Given the description of an element on the screen output the (x, y) to click on. 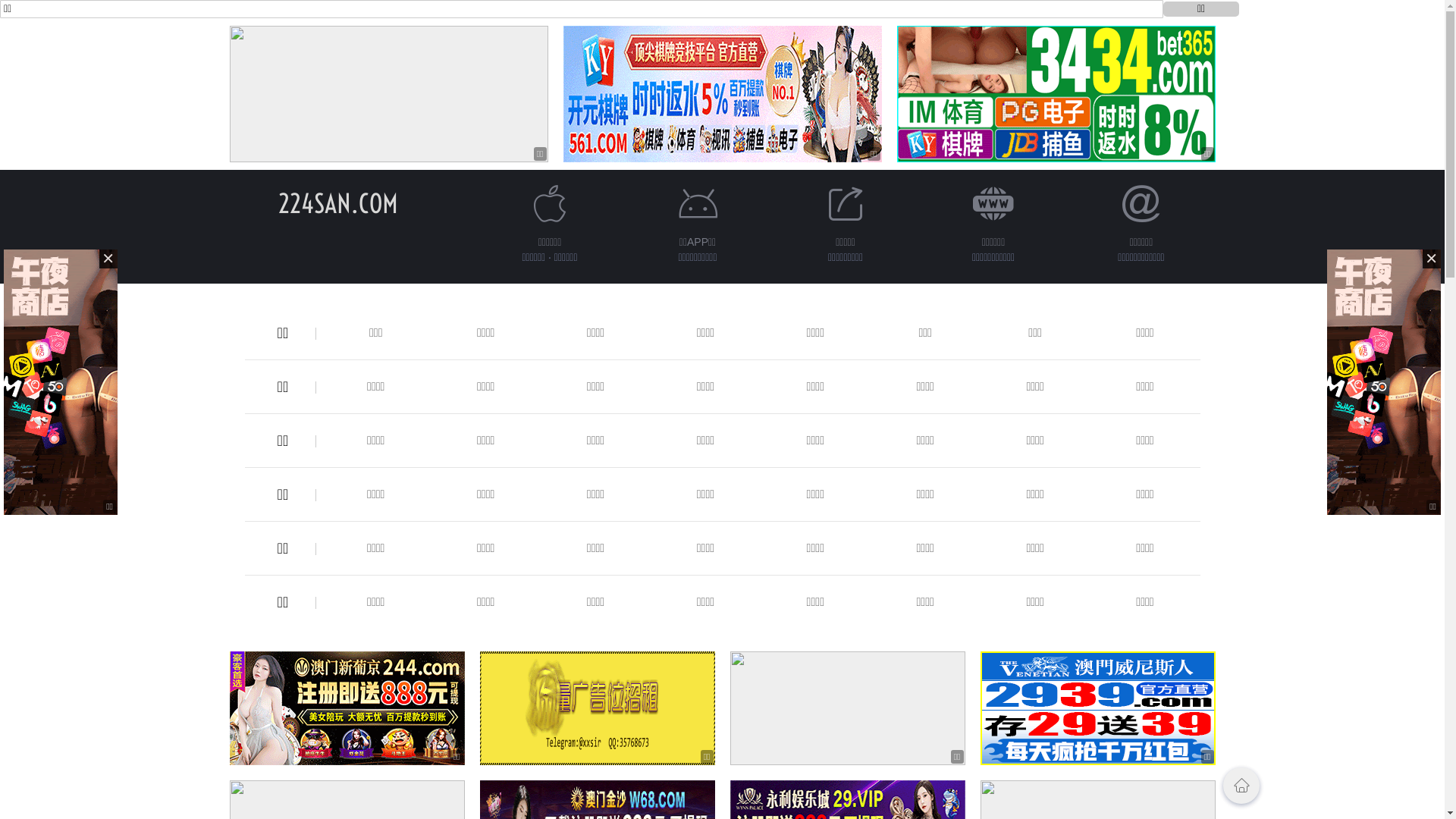
224SAN.COM Element type: text (337, 203)
